Given the description of an element on the screen output the (x, y) to click on. 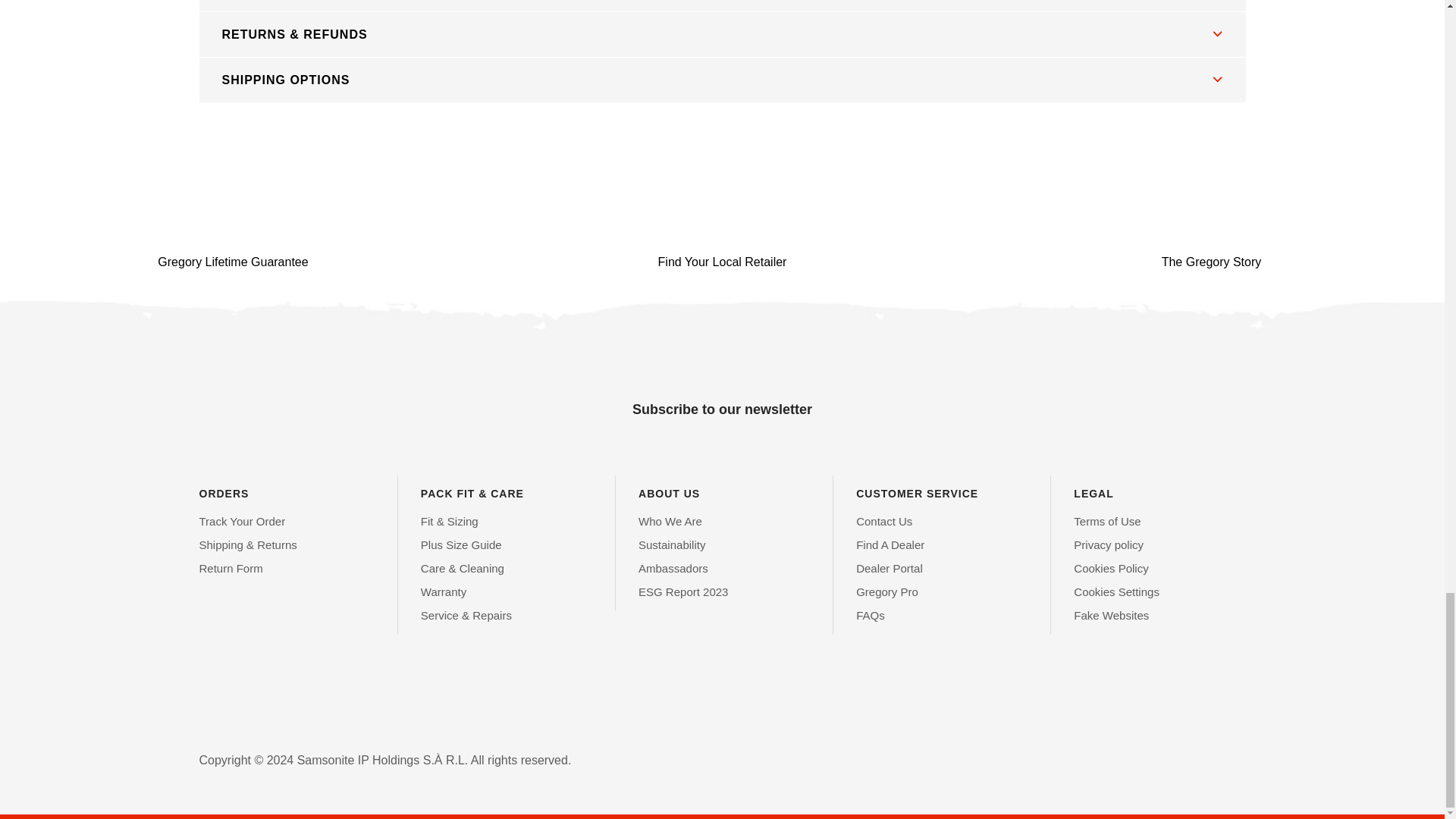
Instagram (249, 700)
The Gregory Story (1210, 224)
Find Your Local Retailer (721, 224)
Gregory Lifetime Guarantee (233, 224)
Facebook (211, 700)
YouTube (288, 700)
Visa (213, 732)
